Given the description of an element on the screen output the (x, y) to click on. 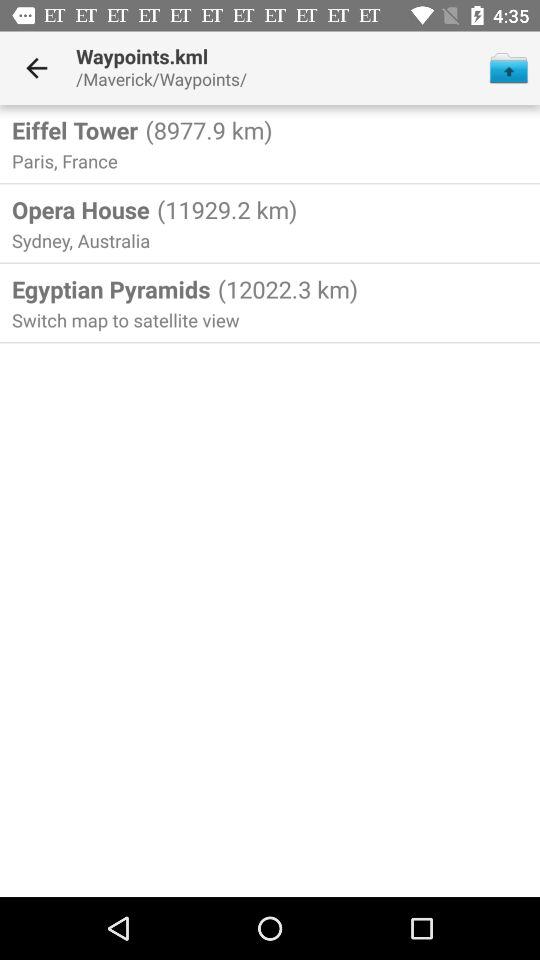
tap item to the right of the egyptian pyramids (284, 289)
